Given the description of an element on the screen output the (x, y) to click on. 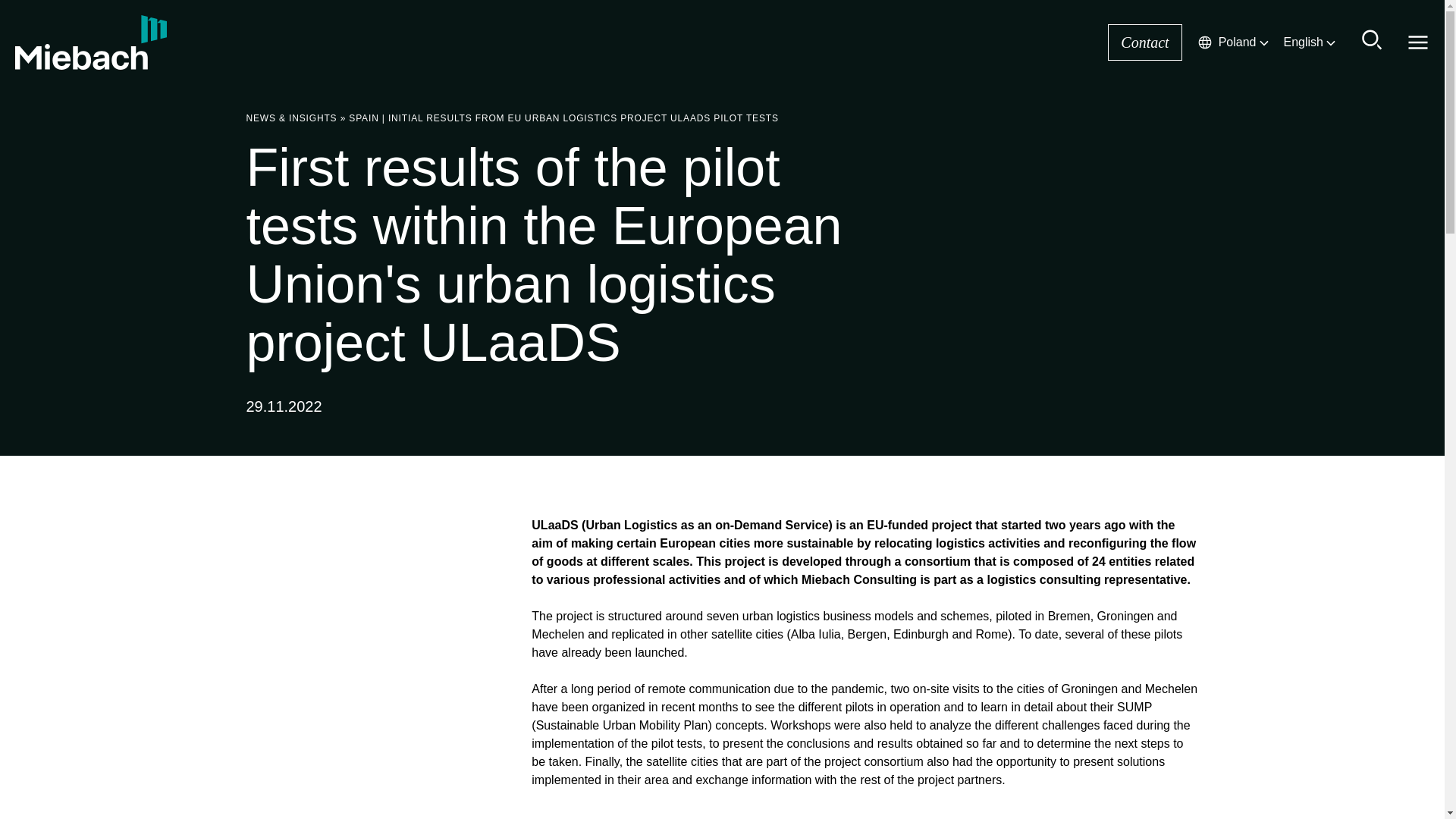
Down (1330, 42)
Contact (1144, 42)
Poland (1233, 42)
Down (1263, 42)
Show Search (1372, 38)
Down (1204, 42)
English (1311, 42)
Miebach Consulting (90, 42)
Open and close Navigation (1417, 42)
